Given the description of an element on the screen output the (x, y) to click on. 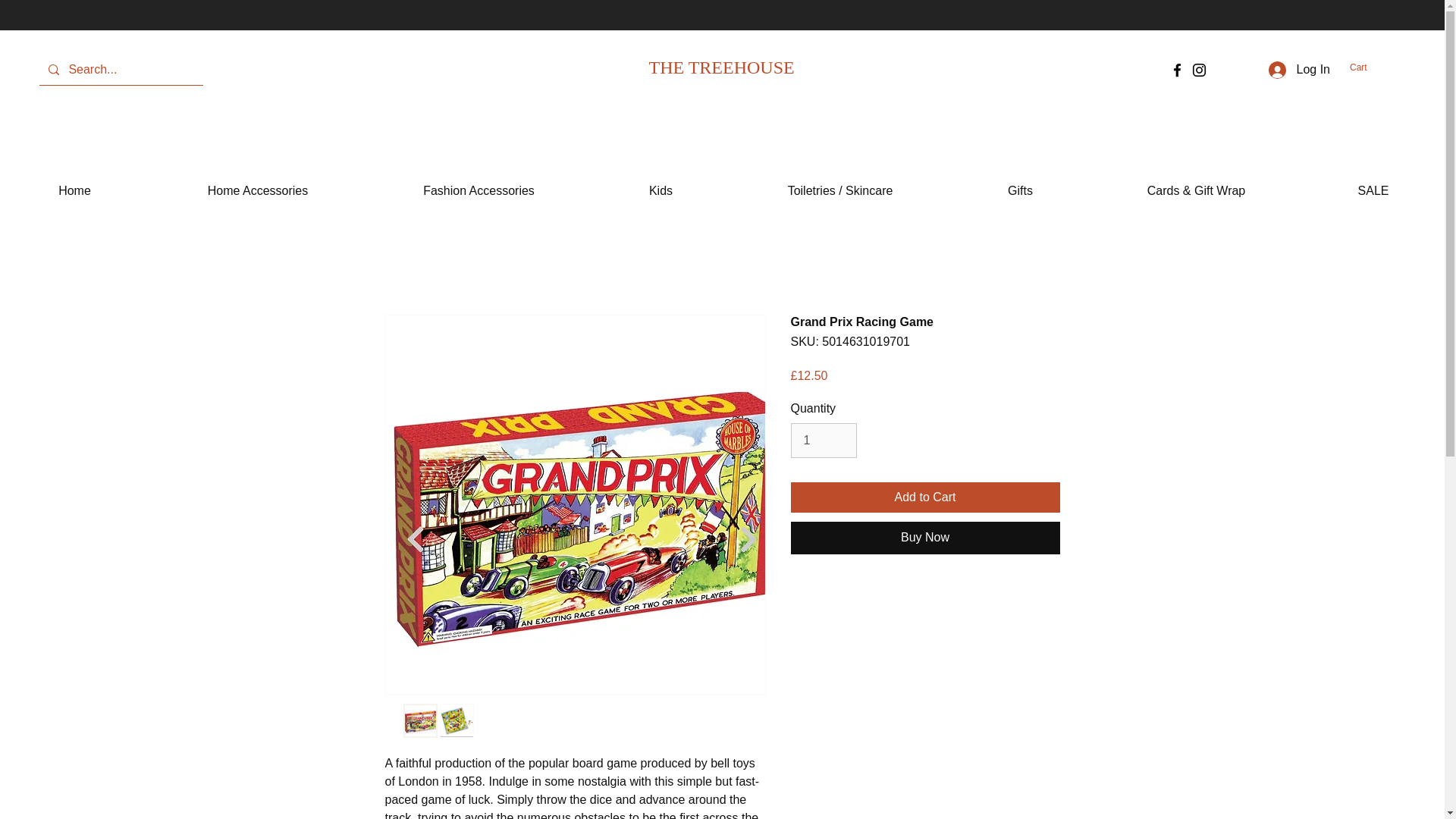
Kids (660, 184)
Cart (1366, 67)
Cart (1366, 67)
Fashion Accessories (478, 184)
Home (74, 184)
Home Accessories (257, 184)
Log In (1298, 69)
THE TREEHOUSE (721, 67)
1 (823, 440)
Add to Cart (924, 497)
Gifts (1020, 184)
